Given the description of an element on the screen output the (x, y) to click on. 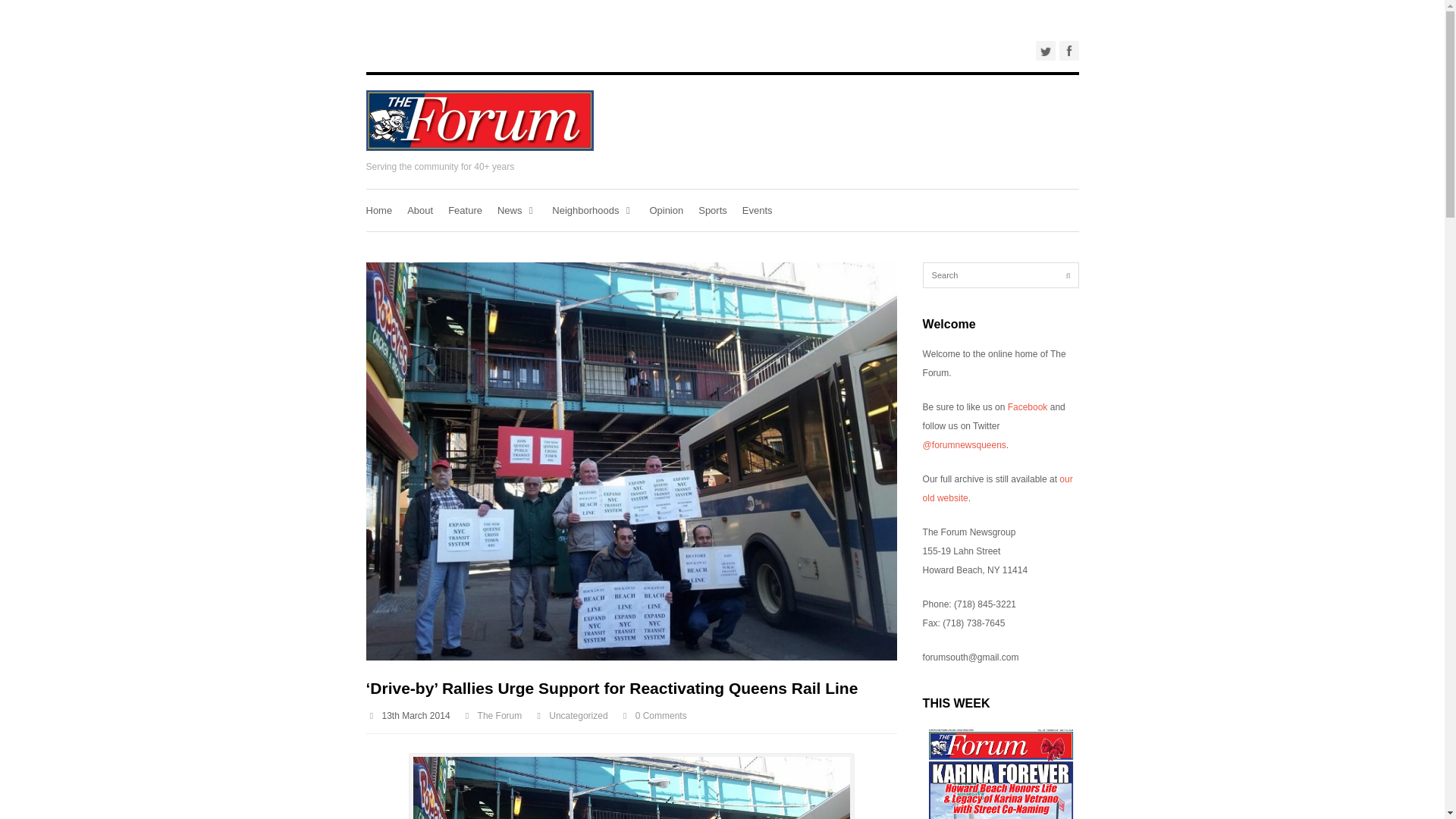
0 Comments (660, 715)
The Forum (499, 715)
The Forum Newsgroup (479, 147)
Neighborhoods (592, 209)
News (517, 209)
facebook (1068, 50)
Events (757, 209)
Opinion (665, 209)
About (419, 209)
twitter (1045, 50)
Posts by The Forum (499, 715)
Feature (464, 209)
Home (378, 209)
Sports (712, 209)
Uncategorized (577, 715)
